Given the description of an element on the screen output the (x, y) to click on. 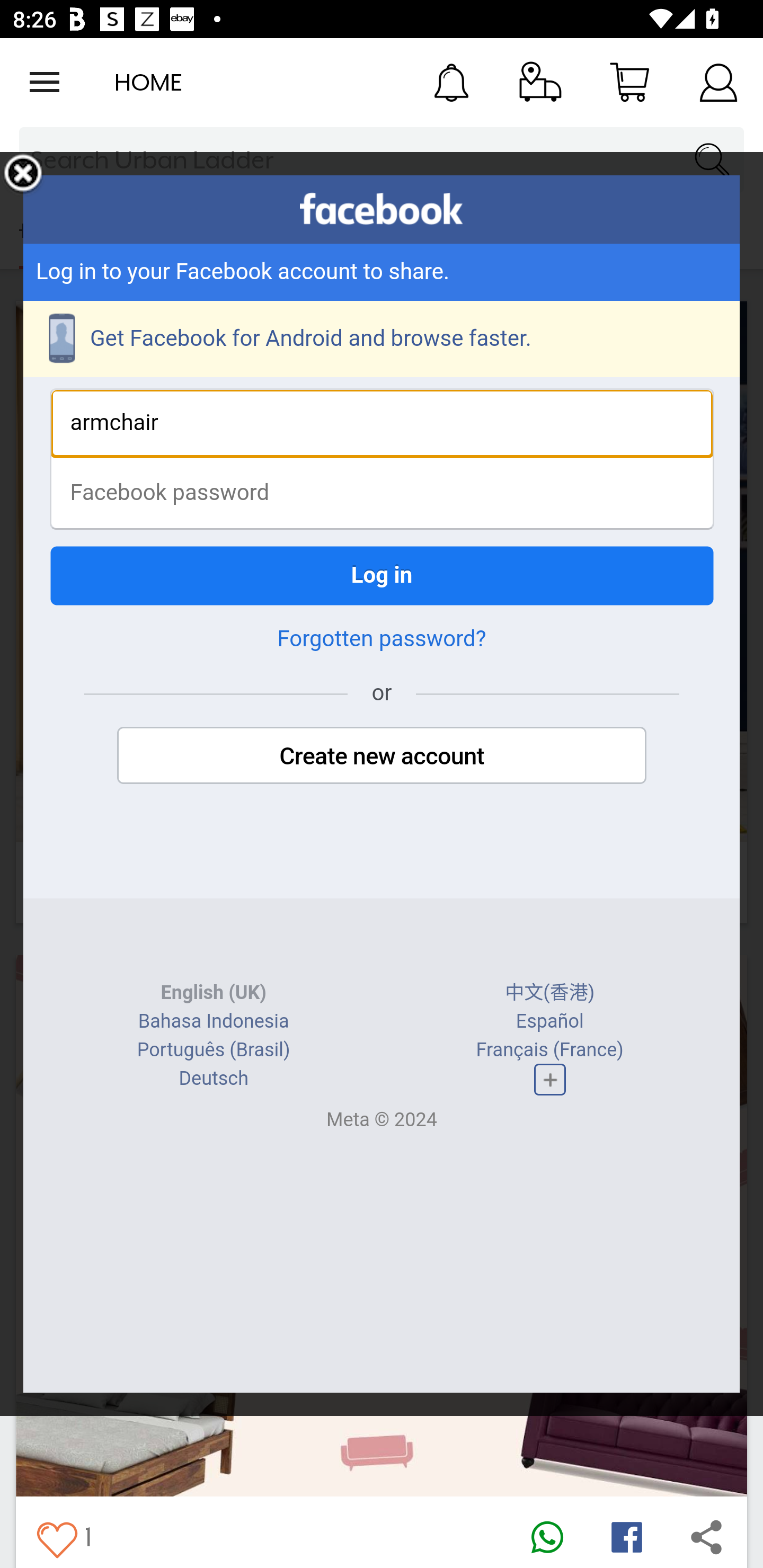
facebook (381, 208)
Get Facebook for Android and browse faster. (381, 339)
armchair (381, 423)
Log in (381, 575)
Forgotten password? (381, 638)
Create new account (381, 755)
中文(香港) (550, 993)
Bahasa Indonesia (214, 1021)
Español (549, 1021)
Português (Brasil) (212, 1049)
Français (France) (549, 1049)
Complete list of languages (548, 1079)
Deutsch (212, 1078)
